Given the description of an element on the screen output the (x, y) to click on. 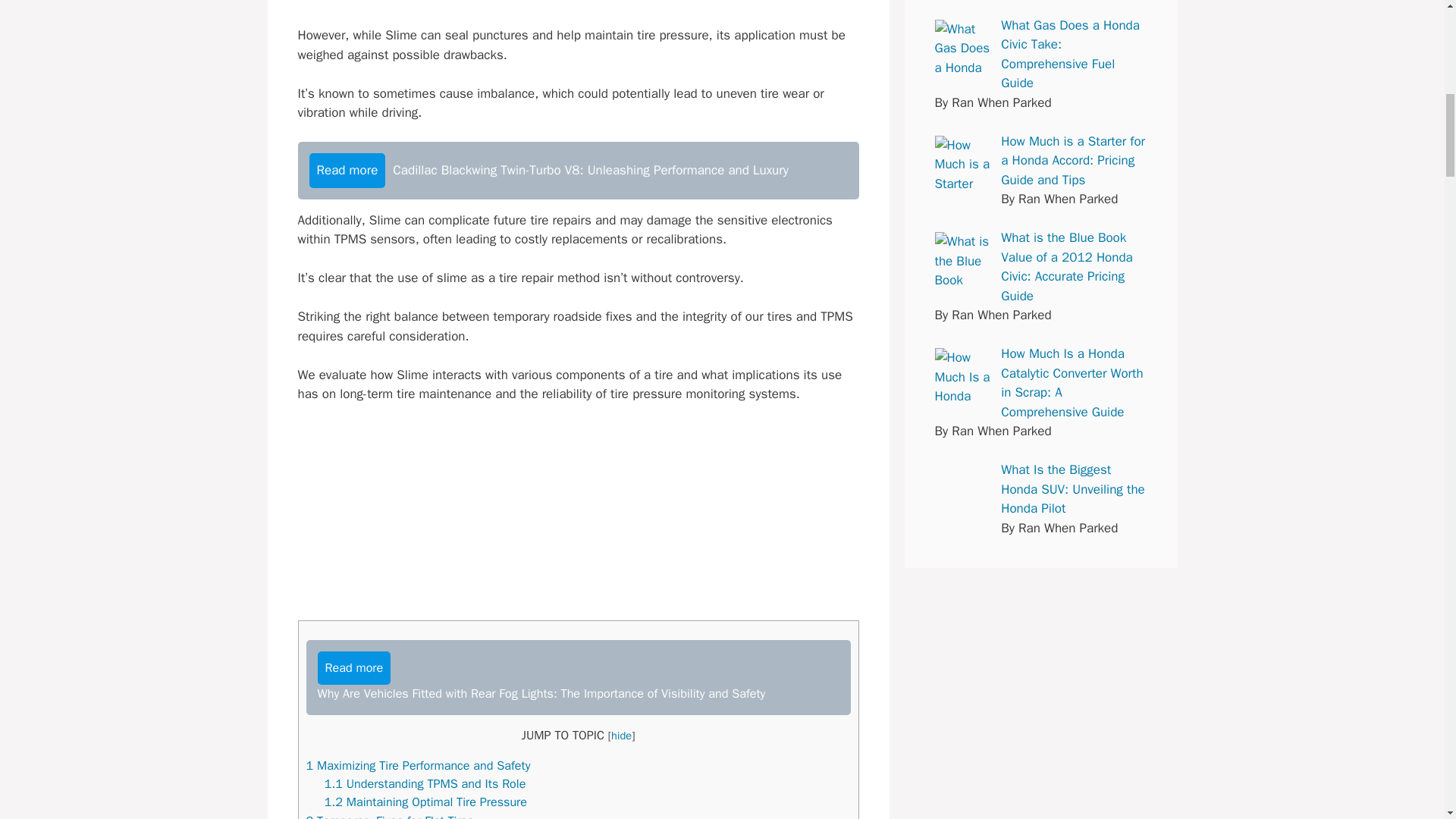
1.1 Understanding TPMS and Its Role (424, 783)
1.2 Maintaining Optimal Tire Pressure (425, 801)
hide (621, 735)
1 Maximizing Tire Performance and Safety (418, 765)
2 Temporary Fixes for Flat Tires (389, 816)
